Given the description of an element on the screen output the (x, y) to click on. 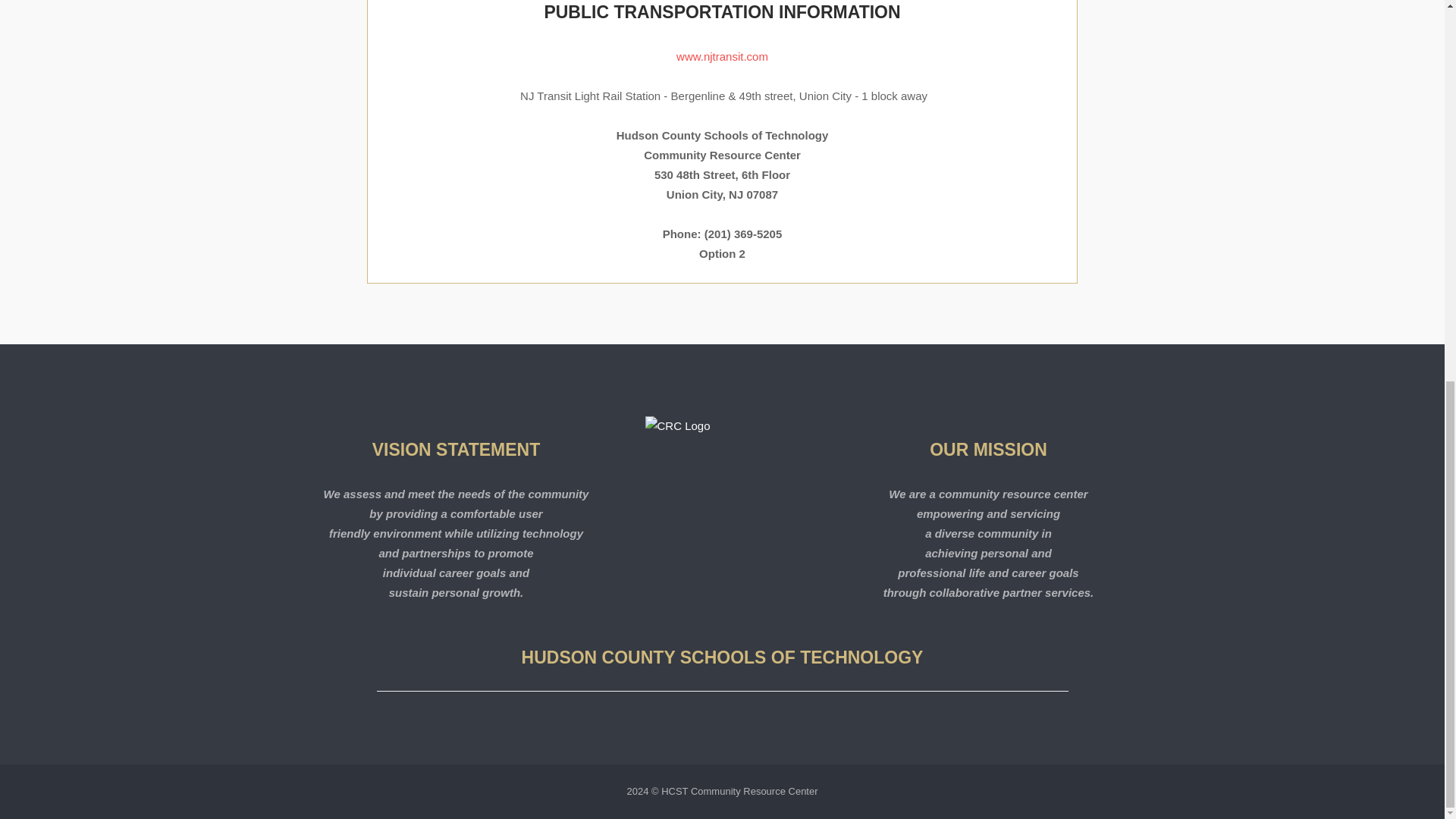
www.njtransit.com (722, 56)
HUDSON COUNTY SCHOOLS OF TECHNOLOGY (722, 657)
